Given the description of an element on the screen output the (x, y) to click on. 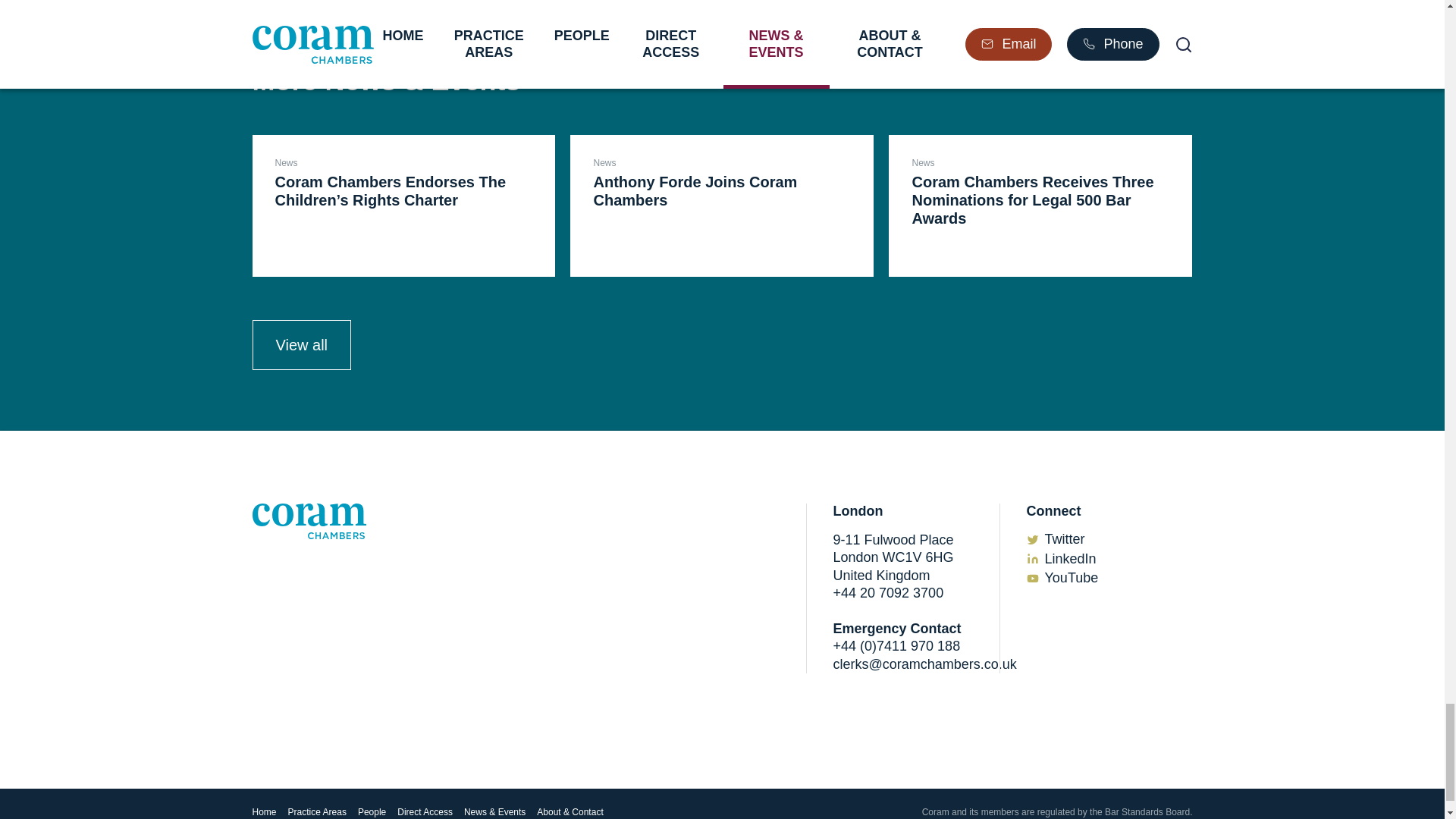
LinkedIn (1070, 558)
Twitter (1064, 539)
YouTube (1072, 577)
View all (300, 345)
